Given the description of an element on the screen output the (x, y) to click on. 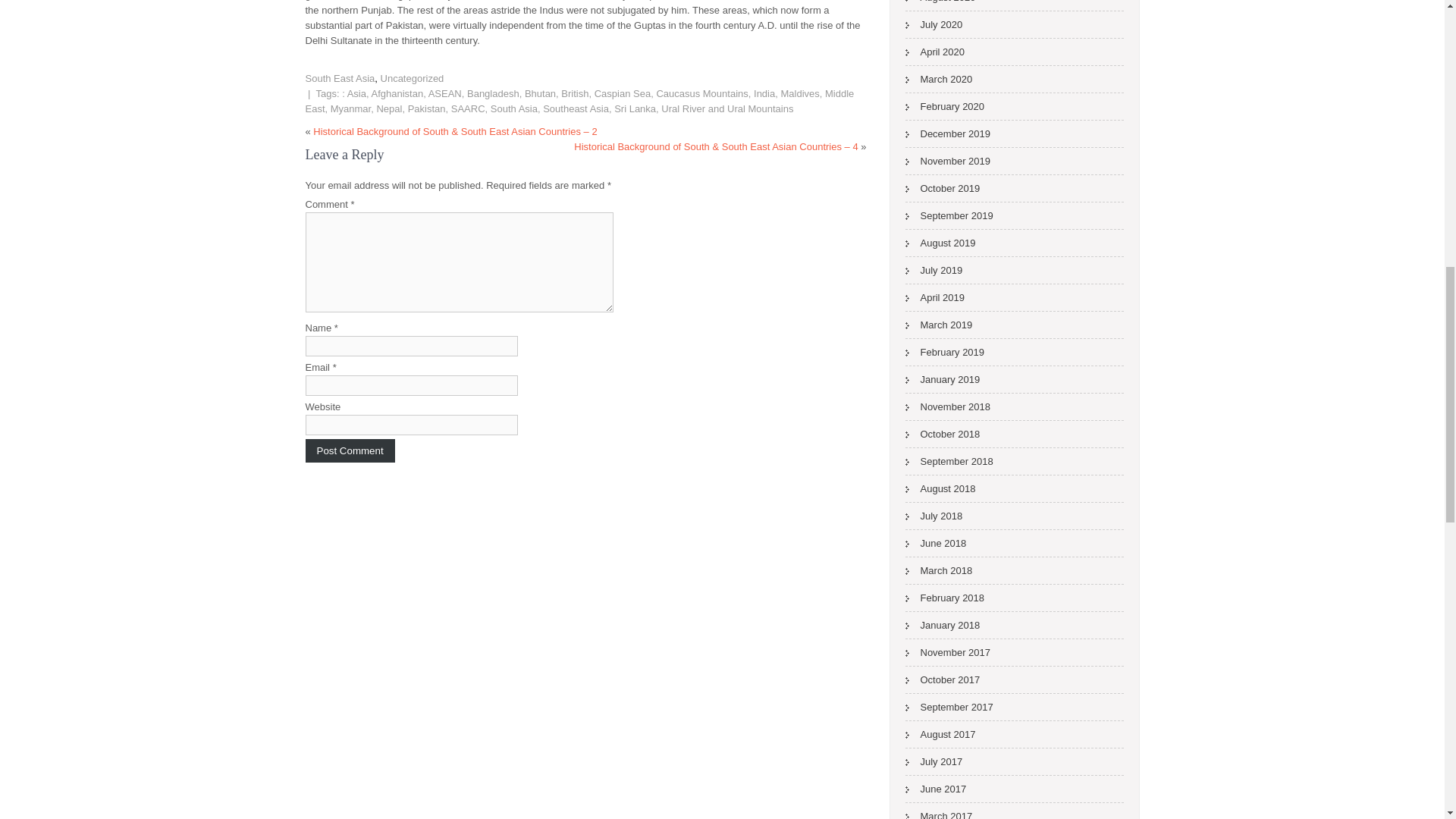
: Asia (354, 93)
Bhutan (540, 93)
Pakistan (426, 108)
Caucasus Mountains (702, 93)
Sri Lanka (635, 108)
South East Asia (339, 78)
Post Comment (349, 450)
Bangladesh (493, 93)
Myanmar (350, 108)
British (574, 93)
India (764, 93)
Ural River and Ural Mountains (727, 108)
Afghanistan (397, 93)
Middle East (578, 100)
Nepal (388, 108)
